Given the description of an element on the screen output the (x, y) to click on. 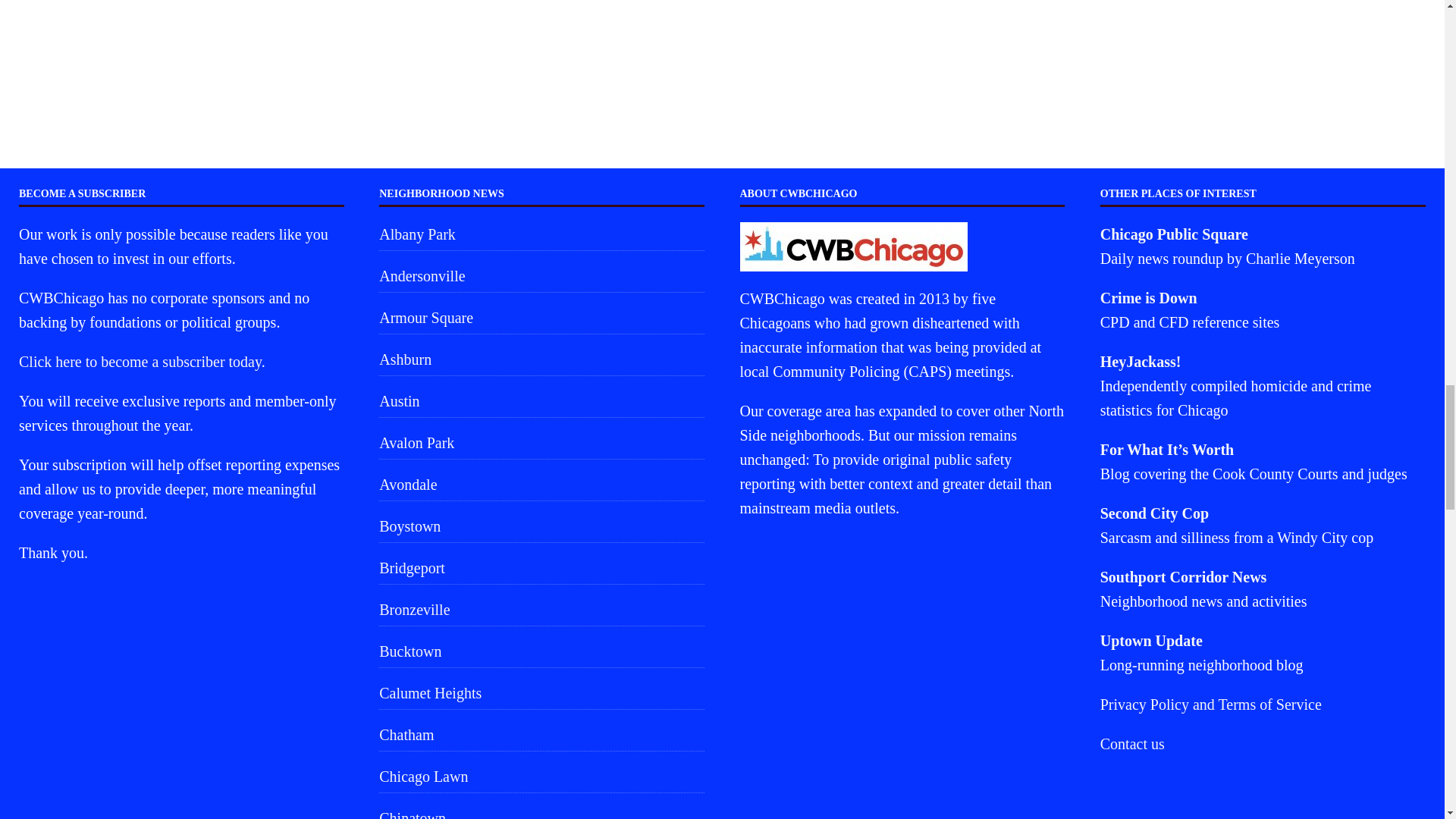
Albany Park (541, 235)
Armour Square (541, 317)
Andersonville (541, 275)
Ashburn (541, 359)
Click here to become a subscriber today. (141, 361)
Austin (541, 400)
